Given the description of an element on the screen output the (x, y) to click on. 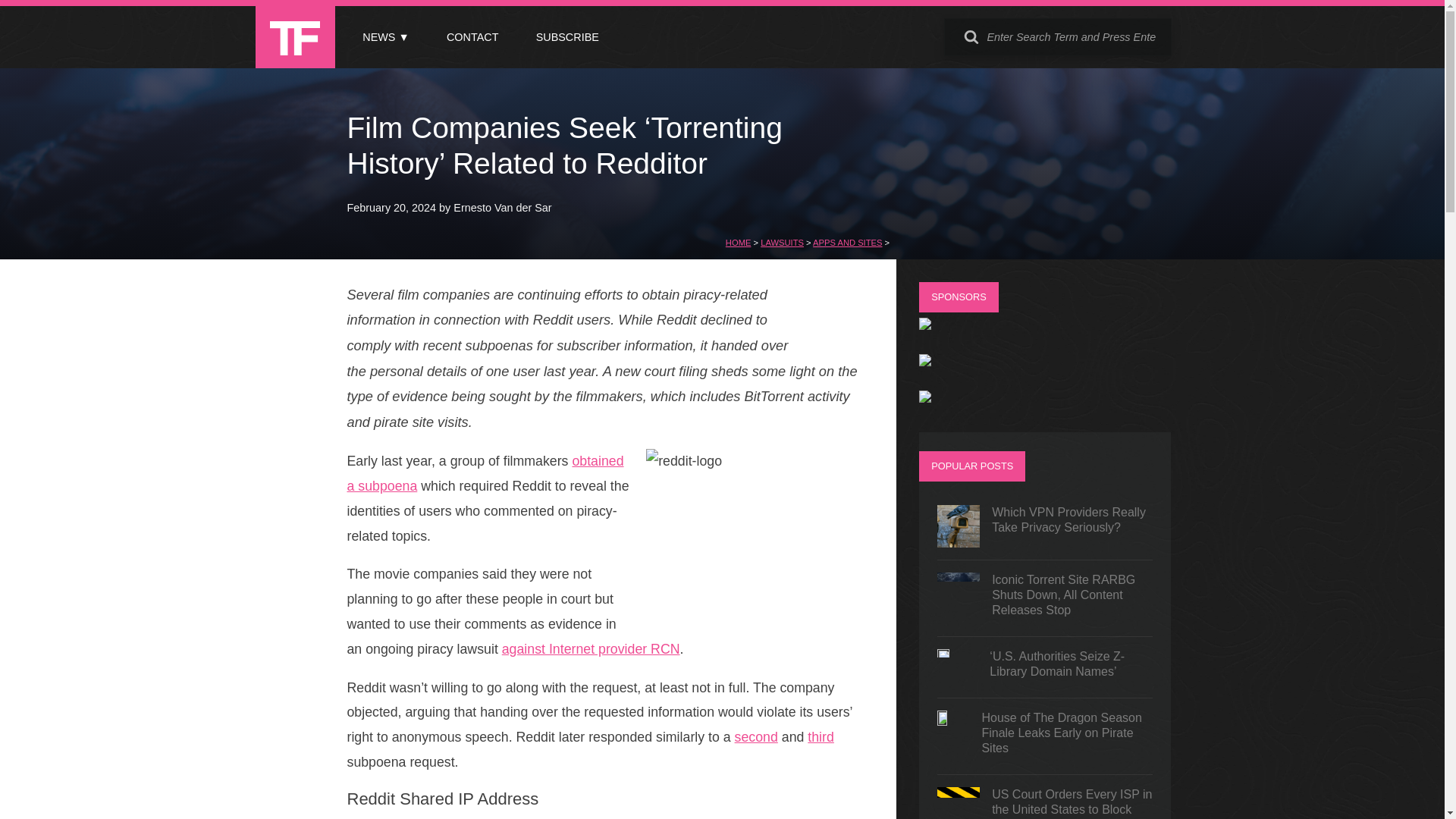
ExpressVPN (924, 361)
APPS AND SITES (847, 242)
obtained a subpoena (485, 473)
Which VPN Providers Really Take Privacy Seriously? (1045, 526)
Ernesto Van der Sar (501, 207)
CONTACT (471, 37)
third (821, 736)
Go to TorrentFreak. (738, 242)
second (756, 736)
Private Internet Access (924, 325)
against Internet provider RCN (590, 648)
HOME (738, 242)
SUBSCRIBE (566, 37)
Go to the Apps and Sites category archives. (847, 242)
LAWSUITS (781, 242)
